Given the description of an element on the screen output the (x, y) to click on. 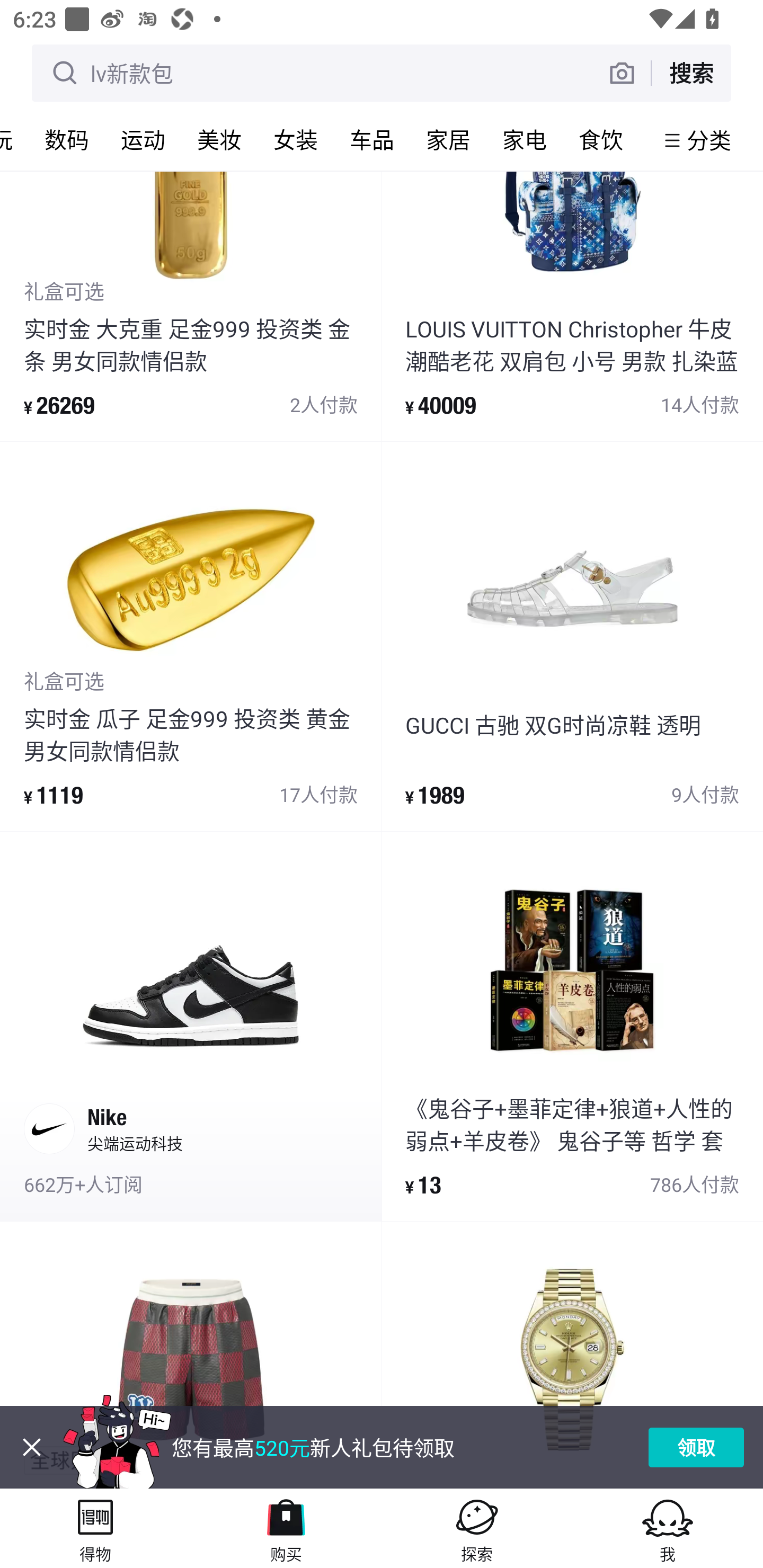
lv新款包 搜索 (381, 72)
搜索 (690, 72)
数码 (66, 139)
运动 (143, 139)
美妆 (219, 139)
女装 (295, 139)
车品 (372, 139)
家居 (448, 139)
家电 (524, 139)
食饮 (601, 139)
分类 (708, 139)
product_item GUCCI 古驰 双G时尚凉鞋 透明 ¥ 1989 9人付款 (572, 636)
Nike 尖端运动科技 662万+人订阅 (190, 1026)
领取 (695, 1446)
得物 (95, 1528)
购买 (285, 1528)
探索 (476, 1528)
我 (667, 1528)
